Given the description of an element on the screen output the (x, y) to click on. 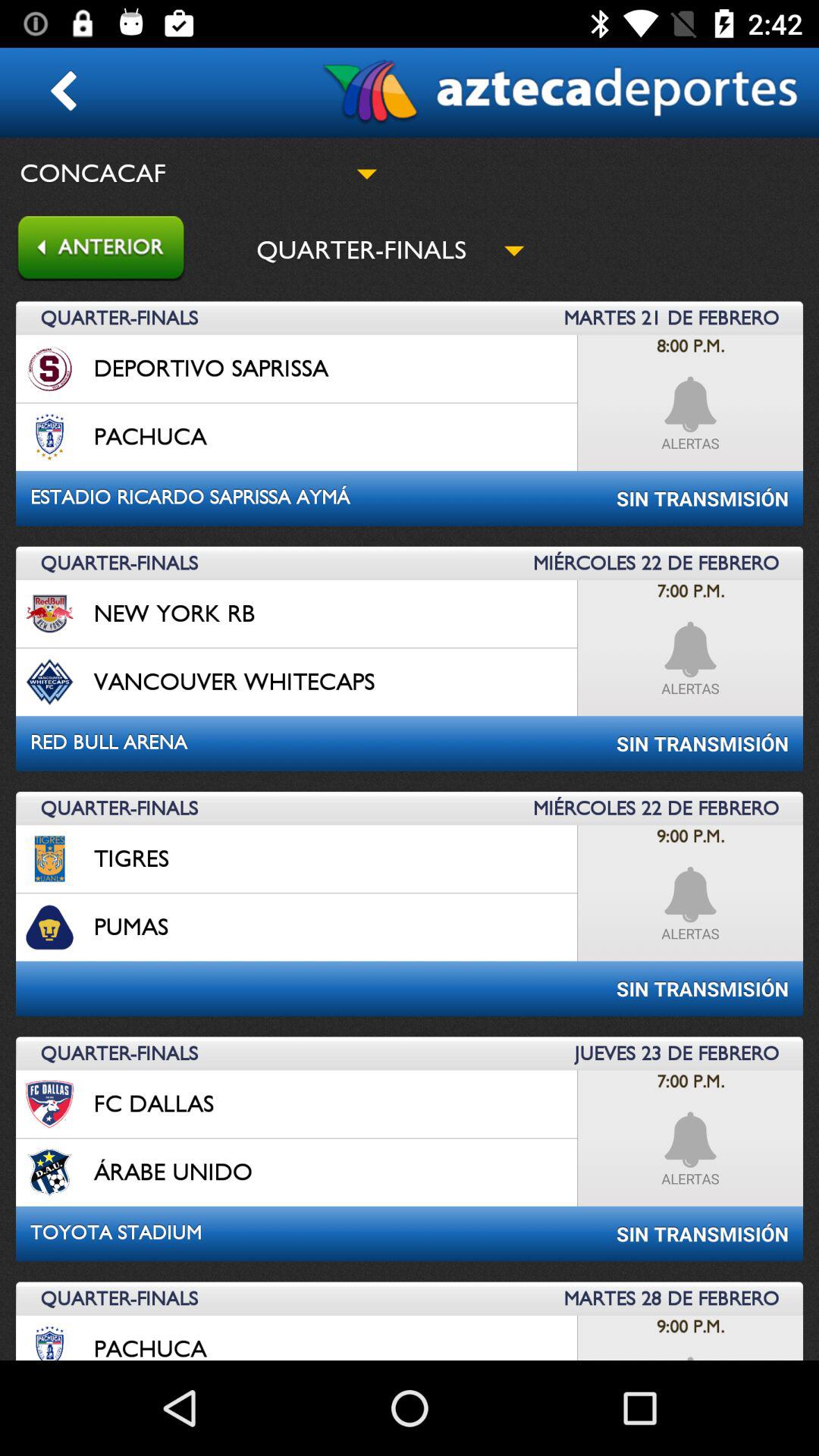
select anterior (92, 249)
